Given the description of an element on the screen output the (x, y) to click on. 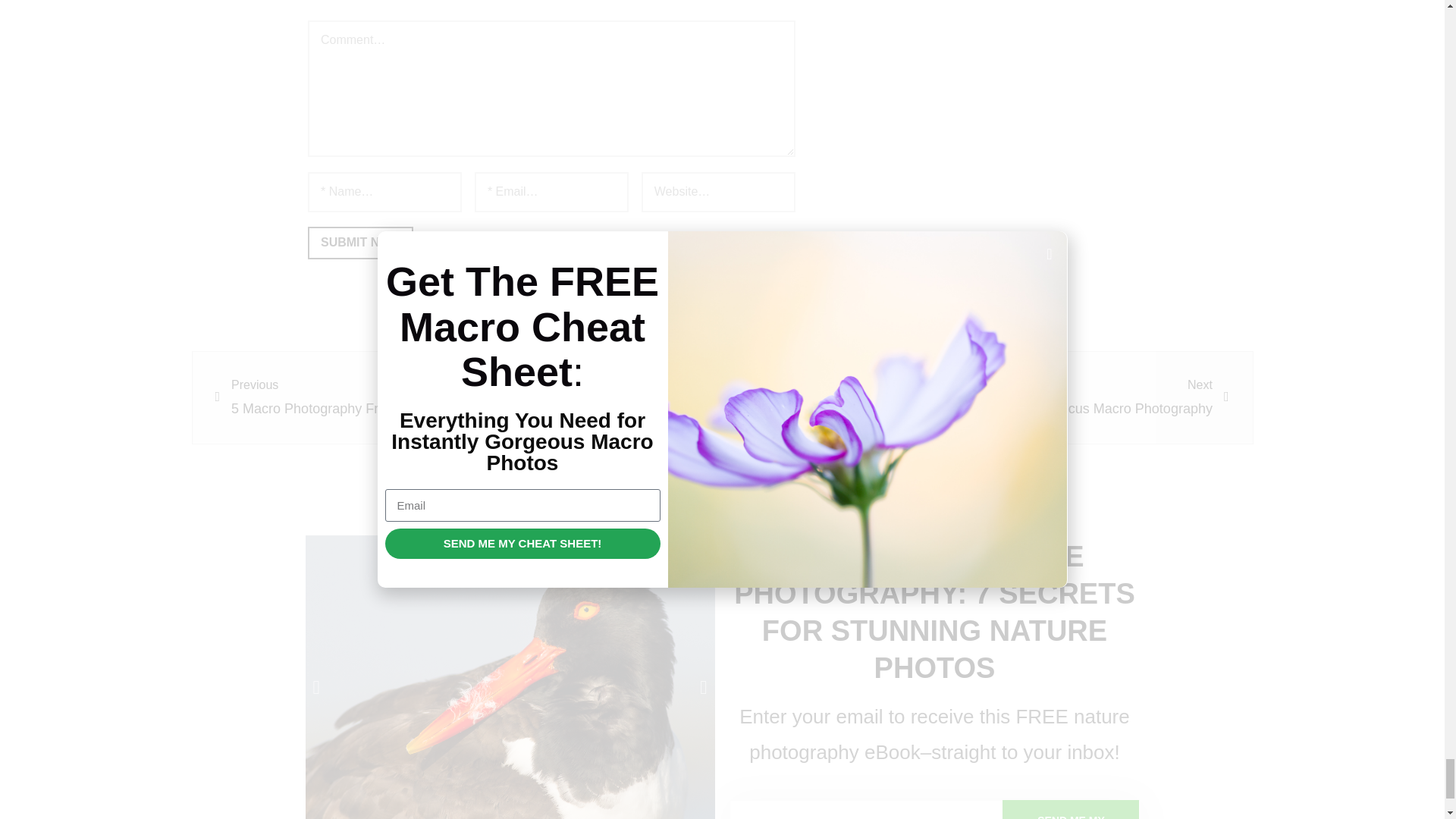
Submit Now (360, 242)
Submit Now (360, 242)
